Given the description of an element on the screen output the (x, y) to click on. 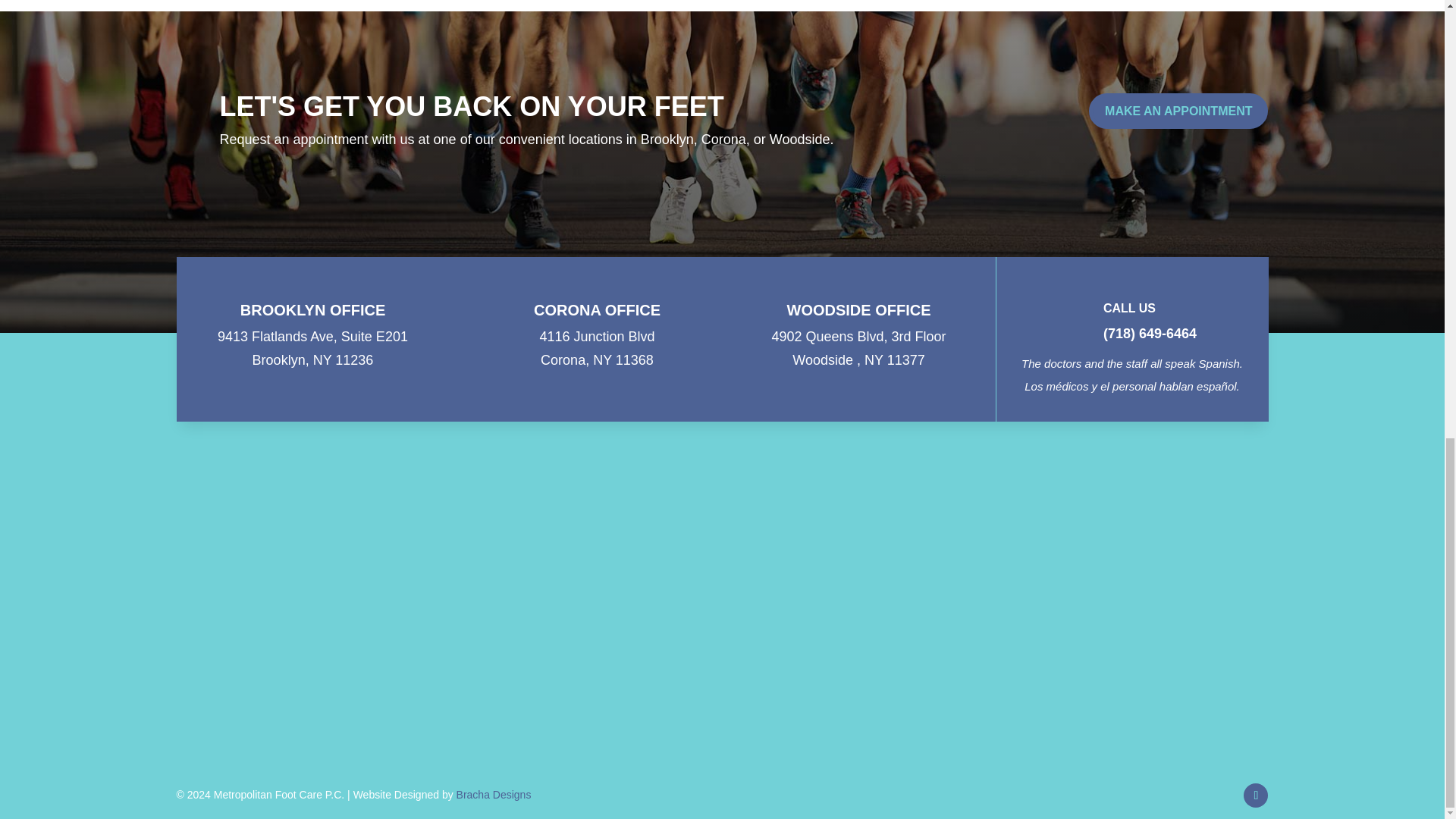
Follow on Facebook (1255, 794)
